Given the description of an element on the screen output the (x, y) to click on. 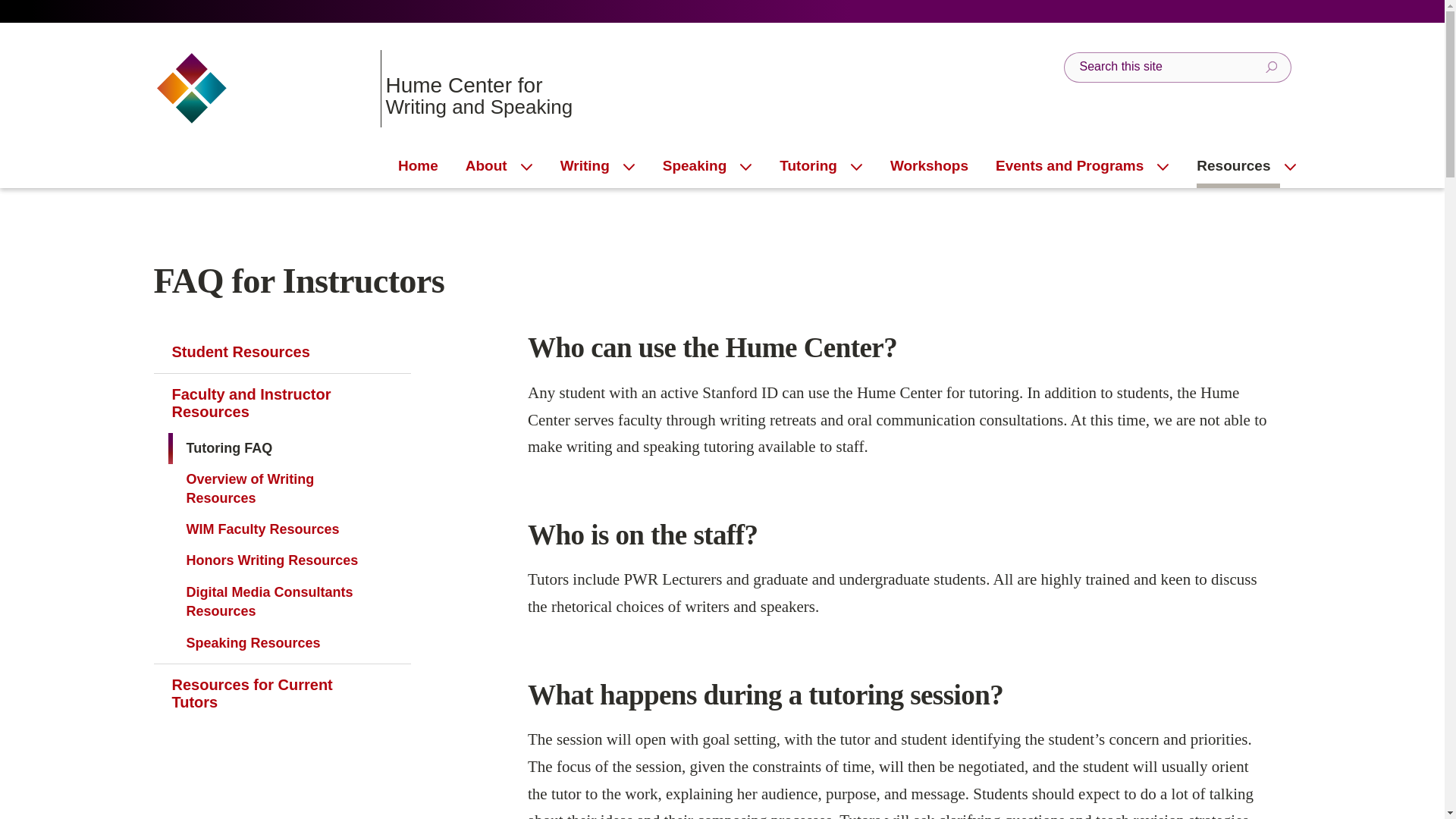
Home (362, 88)
Undergrad (417, 166)
Tutoring (304, 89)
Learn about the various workshops the Hume Center offers (811, 166)
About (928, 166)
Speaking (490, 166)
Submit Search (698, 166)
Skip to main content (1270, 67)
Writing (304, 87)
See a Tutor (589, 166)
